Given the description of an element on the screen output the (x, y) to click on. 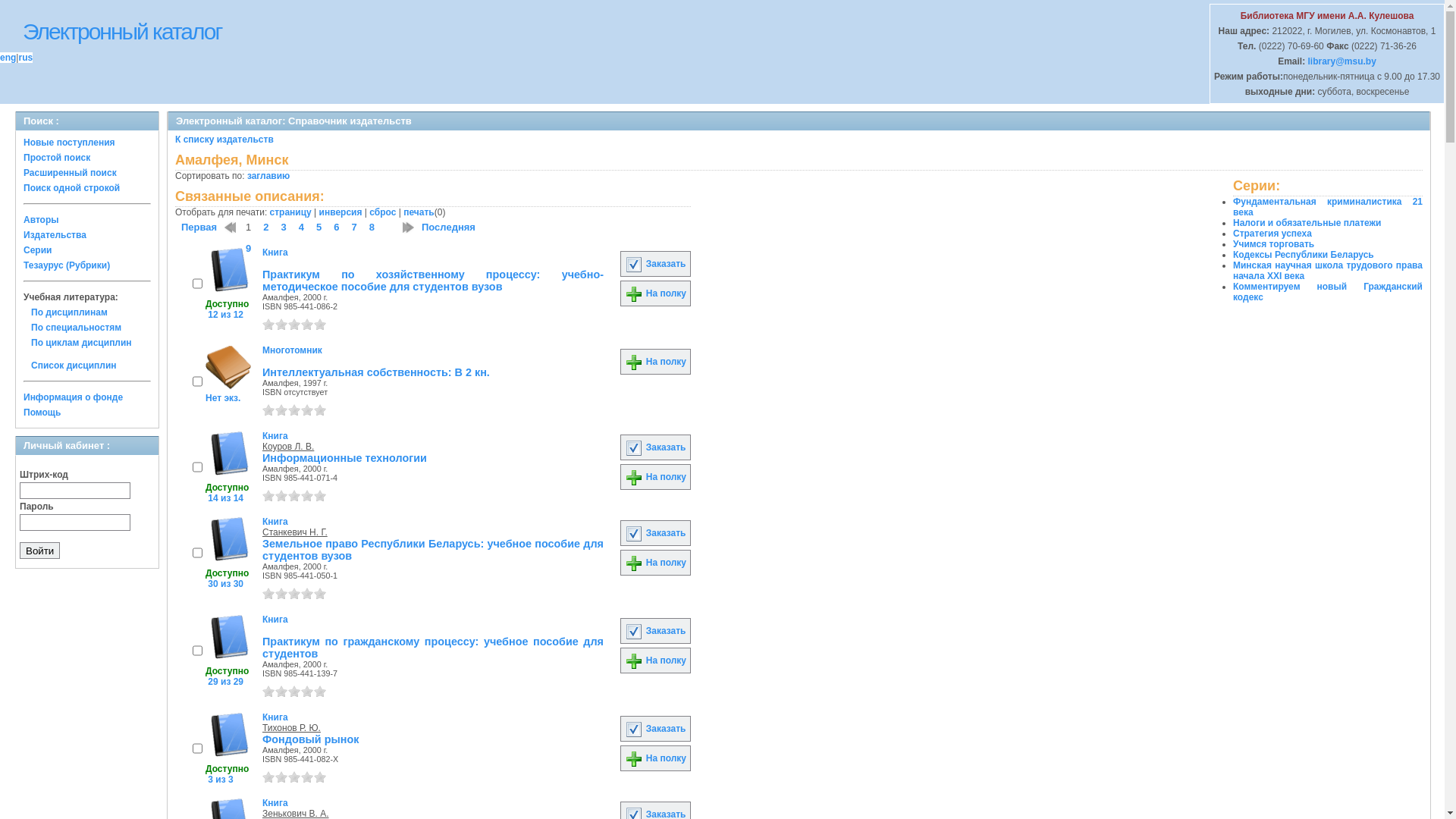
library@msu.by Element type: text (1340, 61)
rus Element type: text (25, 57)
2 Element type: text (281, 323)
1 Element type: text (197, 466)
4 Element type: text (307, 690)
1 Element type: text (197, 552)
9 Element type: text (248, 249)
1 Element type: text (197, 283)
1 Element type: text (268, 776)
7 Element type: text (353, 228)
3 Element type: text (294, 593)
3 Element type: text (283, 228)
2 Element type: text (281, 495)
eng Element type: text (7, 57)
4 Element type: text (307, 495)
3 Element type: text (294, 323)
3 Element type: text (294, 776)
5 Element type: text (319, 409)
1 Element type: text (197, 650)
3 Element type: text (294, 409)
5 Element type: text (318, 228)
2 Element type: text (281, 593)
1 Element type: text (268, 593)
2 Element type: text (265, 228)
5 Element type: text (319, 495)
1 Element type: text (268, 409)
6 Element type: text (336, 228)
2 Element type: text (281, 776)
1 Element type: text (268, 323)
4 Element type: text (301, 228)
5 Element type: text (319, 776)
4 Element type: text (307, 409)
4 Element type: text (307, 593)
4 Element type: text (307, 776)
1 Element type: text (197, 748)
1 Element type: text (197, 381)
2 Element type: text (281, 409)
1 Element type: text (268, 690)
2 Element type: text (281, 690)
5 Element type: text (319, 690)
5 Element type: text (319, 323)
5 Element type: text (319, 593)
8 Element type: text (371, 228)
3 Element type: text (294, 495)
4 Element type: text (307, 323)
3 Element type: text (294, 690)
1 Element type: text (268, 495)
